Given the description of an element on the screen output the (x, y) to click on. 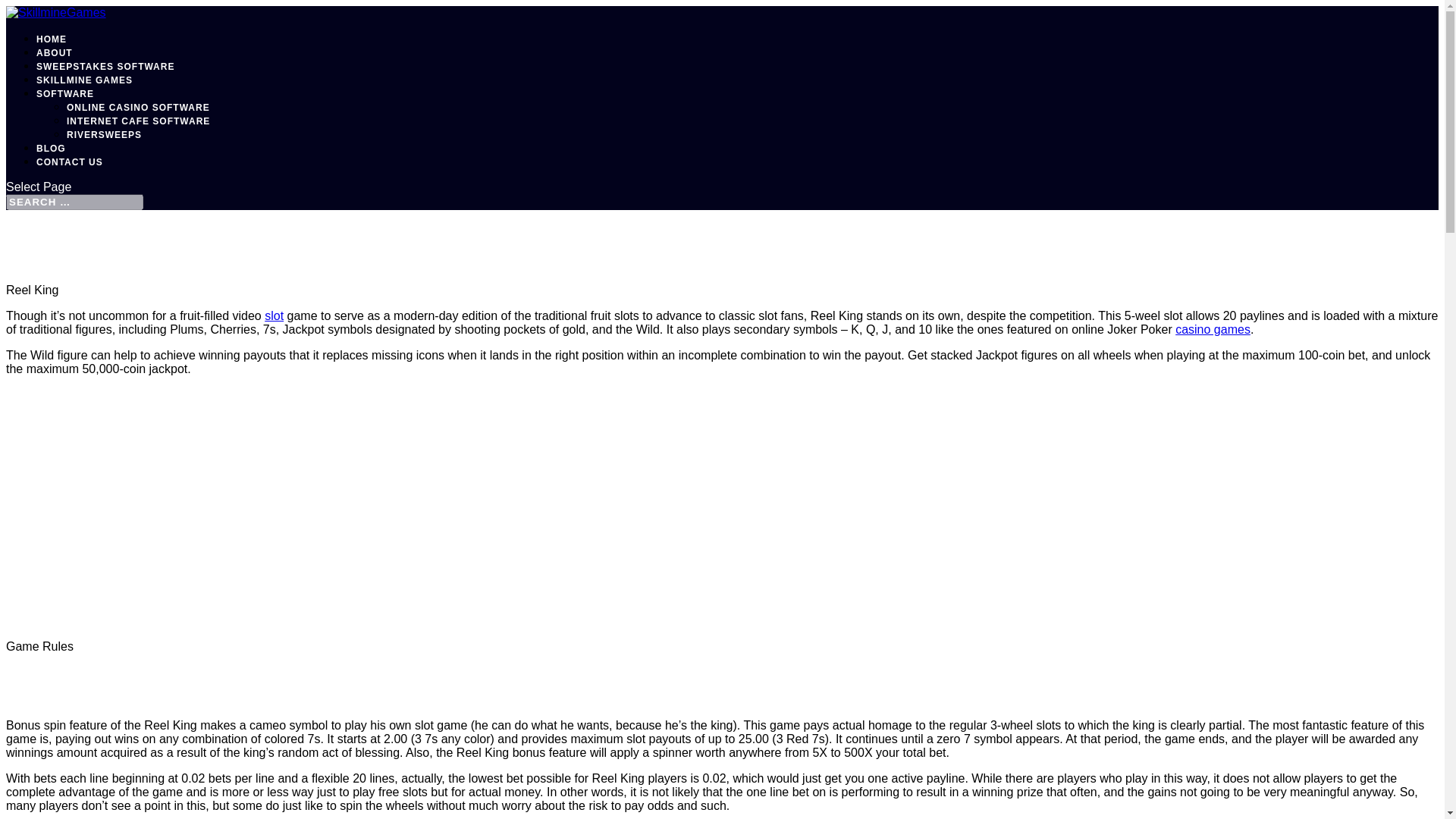
Search for: (73, 201)
ABOUT (54, 52)
CONTACT US (69, 162)
casino games (1212, 328)
SKILLMINE GAMES (84, 80)
RIVERSWEEPS (103, 134)
ONLINE CASINO SOFTWARE (137, 107)
slot (273, 315)
BLOG (50, 148)
HOME (51, 39)
